Given the description of an element on the screen output the (x, y) to click on. 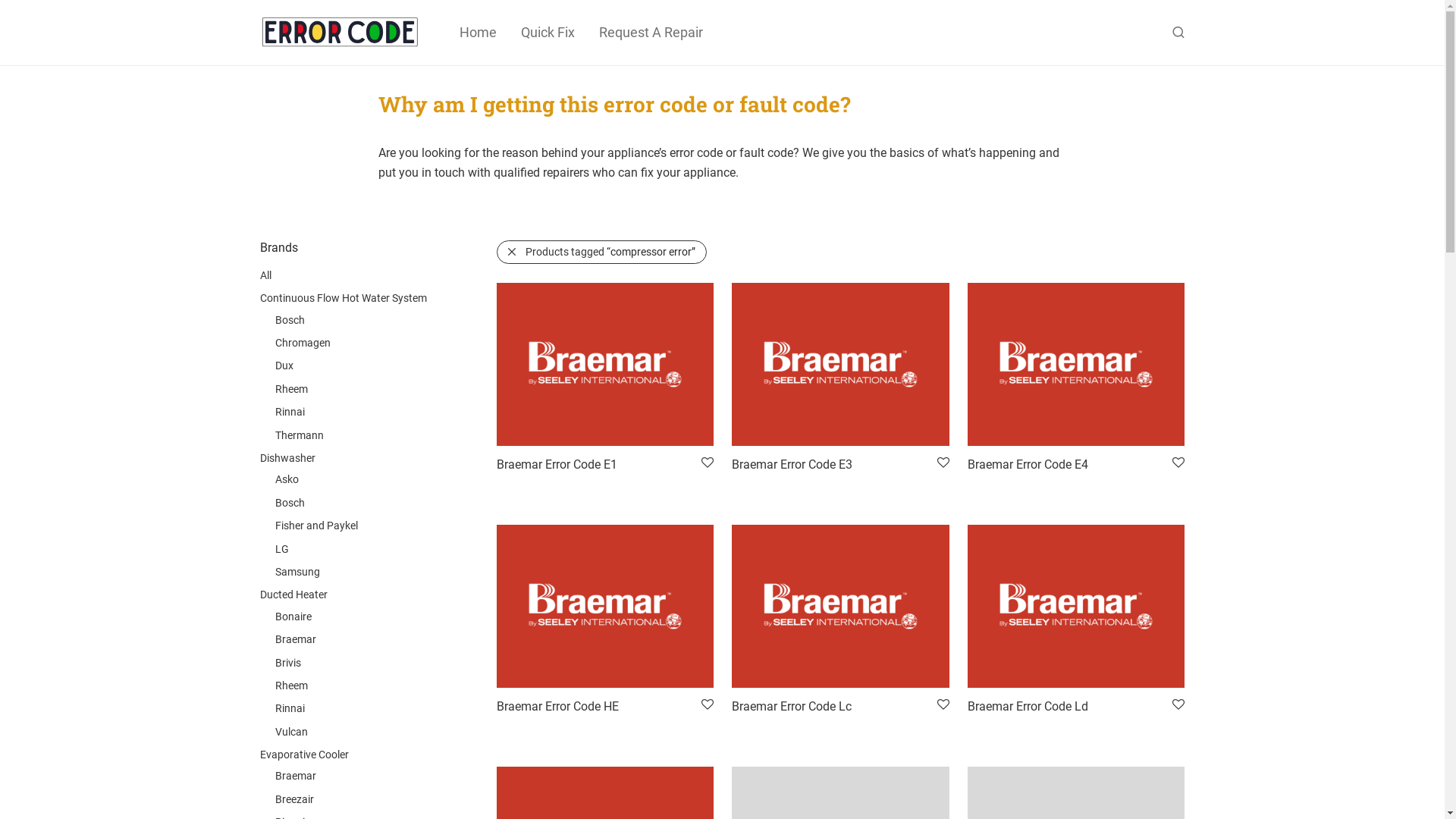
Thermann Element type: text (298, 435)
Rinnai Element type: text (289, 411)
Braemar Error Code HE Element type: text (557, 706)
Braemar Error Code E3 Element type: text (791, 464)
Rinnai Element type: text (289, 708)
Samsung Element type: text (296, 571)
Bosch Element type: text (289, 319)
Braemar Error Code E1 Element type: text (556, 464)
Continuous Flow Hot Water System Element type: text (342, 297)
Braemar Element type: text (294, 639)
Ducted Heater Element type: text (292, 594)
Quick Fix Element type: text (547, 32)
LG Element type: text (281, 548)
Vulcan Element type: text (290, 731)
Dux Element type: text (283, 365)
Chromagen Element type: text (301, 342)
Add to Wishlist Element type: hover (942, 704)
Fisher and Paykel Element type: text (315, 525)
Braemar Element type: text (294, 775)
Evaporative Cooler Element type: text (303, 754)
Bosch Element type: text (289, 502)
Home Element type: text (477, 32)
Rheem Element type: text (290, 388)
Rheem Element type: text (290, 685)
Add to Wishlist Element type: hover (706, 462)
Add to Wishlist Element type: hover (942, 462)
Brivis Element type: text (287, 662)
Add to Wishlist Element type: hover (1177, 462)
Request A Repair Element type: text (650, 32)
Braemar Error Code Lc Element type: text (791, 706)
Breezair Element type: text (293, 799)
Asko Element type: text (286, 479)
Braemar Error Code E4 Element type: text (1027, 464)
Braemar Error Code Ld Element type: text (1027, 706)
Bonaire Element type: text (292, 616)
Dishwasher Element type: text (286, 457)
Add to Wishlist Element type: hover (1177, 704)
Add to Wishlist Element type: hover (706, 704)
All Element type: text (264, 275)
Why am I getting this error code or fault code? Element type: text (614, 104)
